Given the description of an element on the screen output the (x, y) to click on. 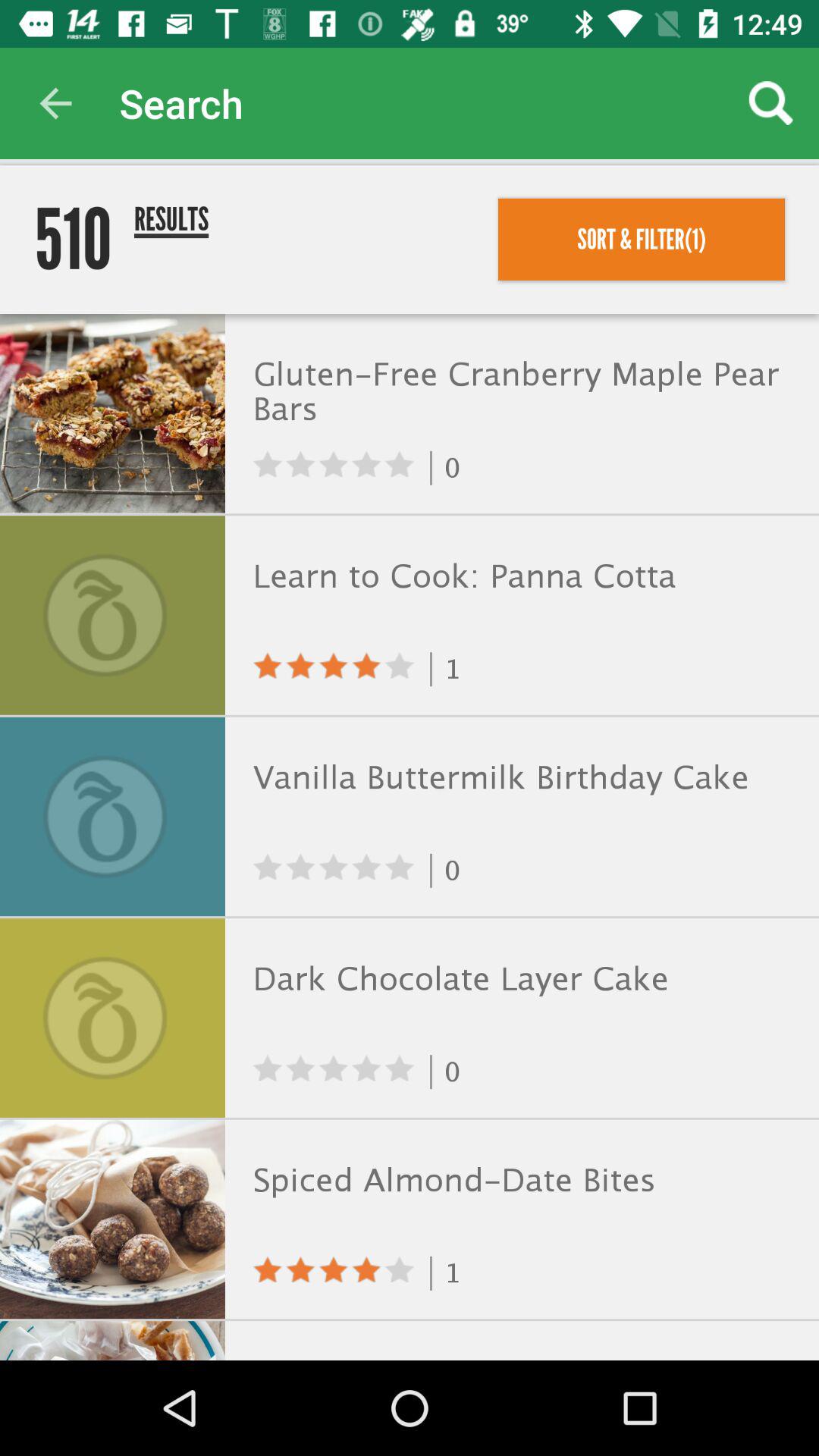
press the app to the right of the search icon (771, 103)
